Given the description of an element on the screen output the (x, y) to click on. 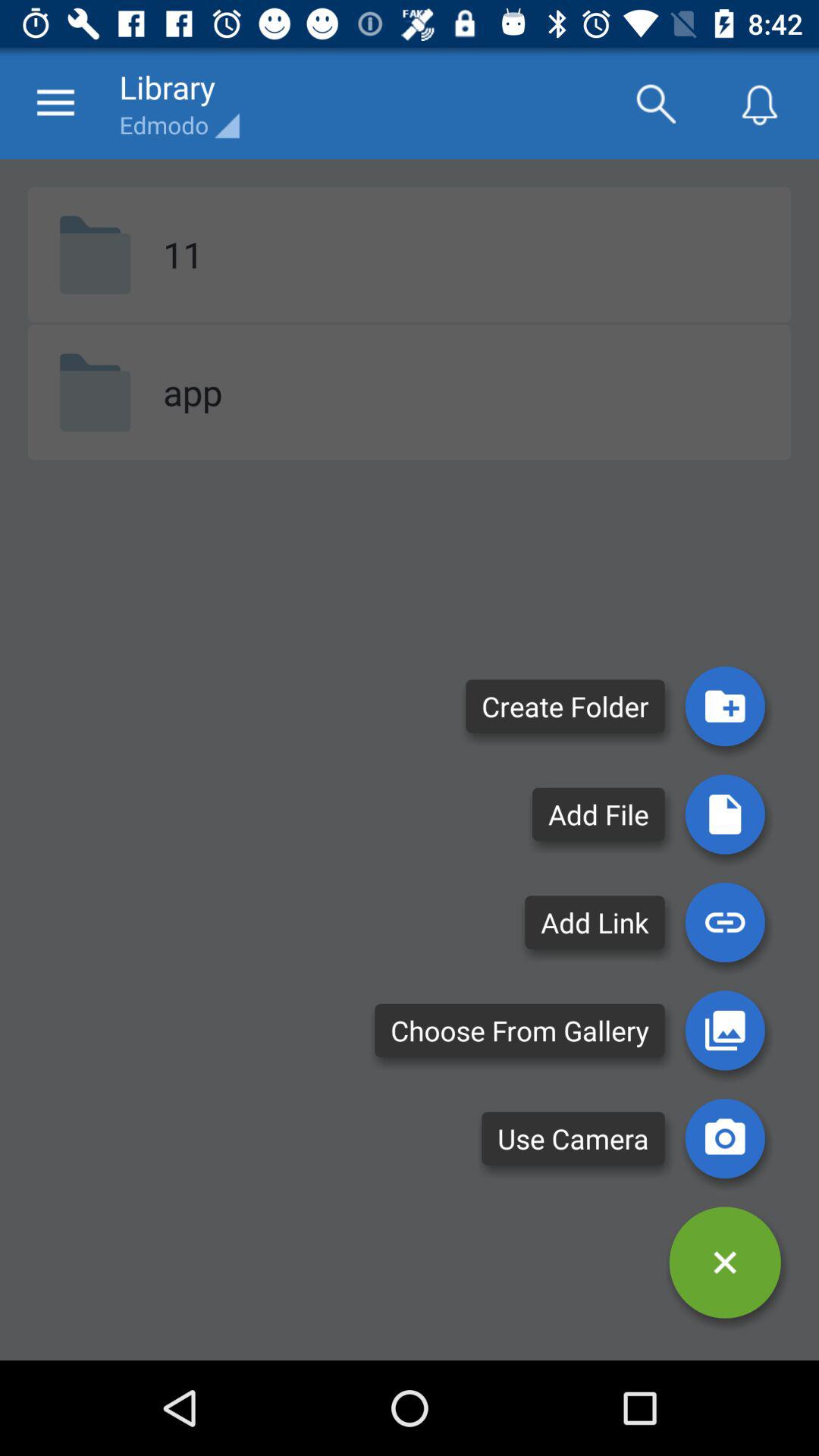
open 11 item (183, 254)
